Given the description of an element on the screen output the (x, y) to click on. 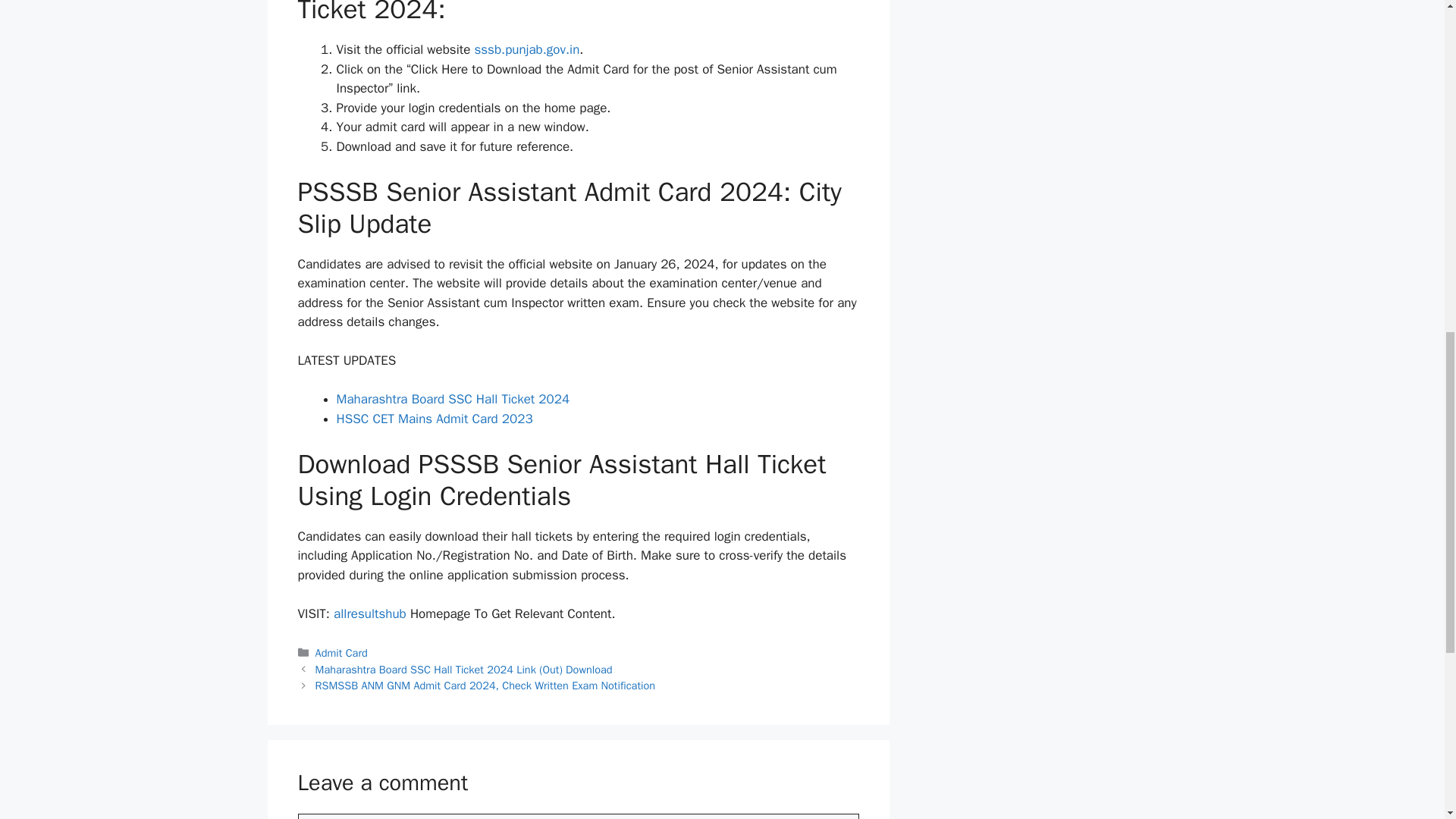
allresultshub (369, 613)
HSSC CET Mains Admit Card 2023 (434, 418)
Admit Card (341, 653)
Maharashtra Board SSC Hall Ticket 2024 (453, 399)
sssb.punjab.gov.in (526, 49)
